Given the description of an element on the screen output the (x, y) to click on. 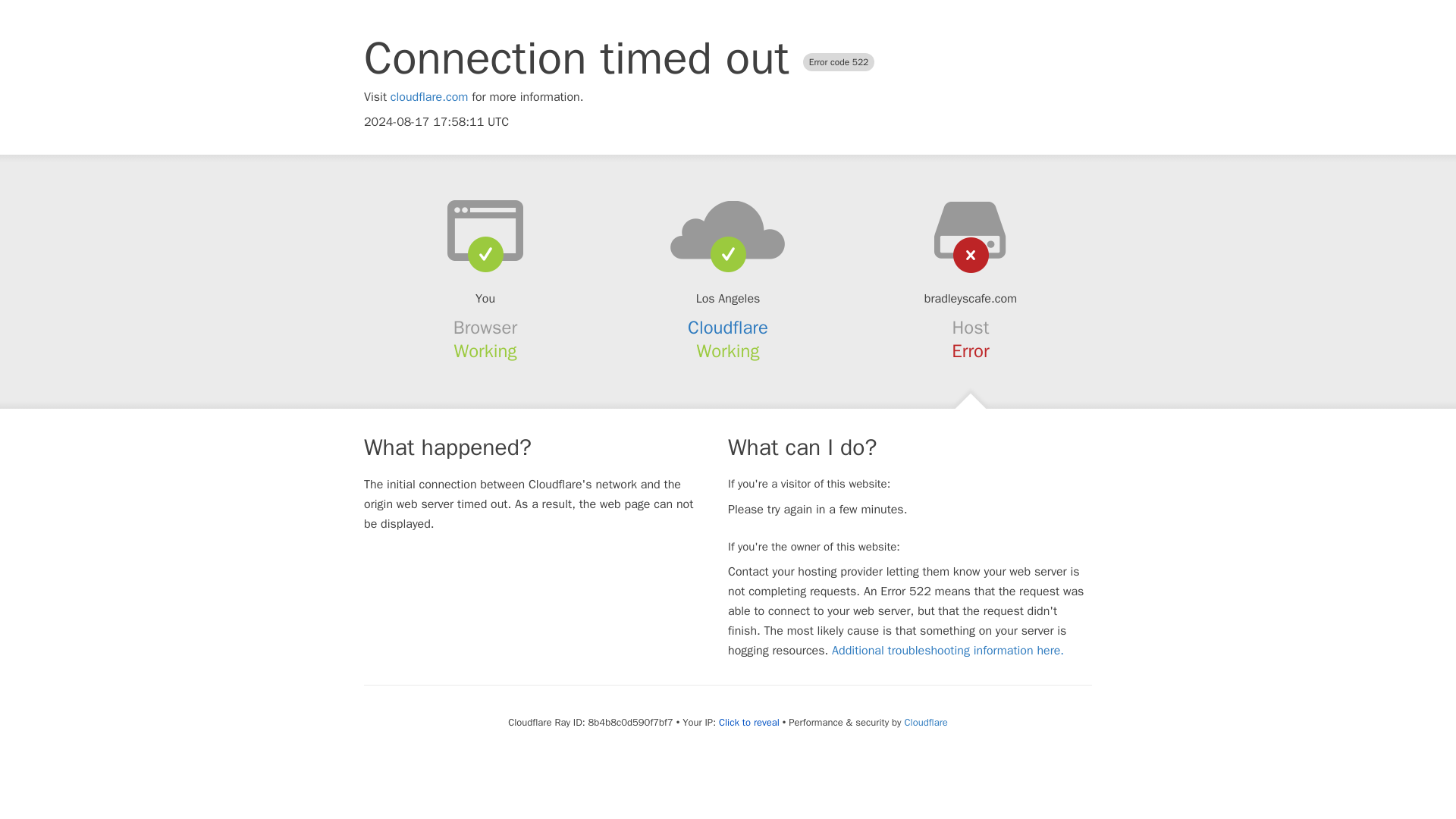
Additional troubleshooting information here. (947, 650)
Cloudflare (925, 721)
Click to reveal (748, 722)
cloudflare.com (429, 96)
Cloudflare (727, 327)
